Given the description of an element on the screen output the (x, y) to click on. 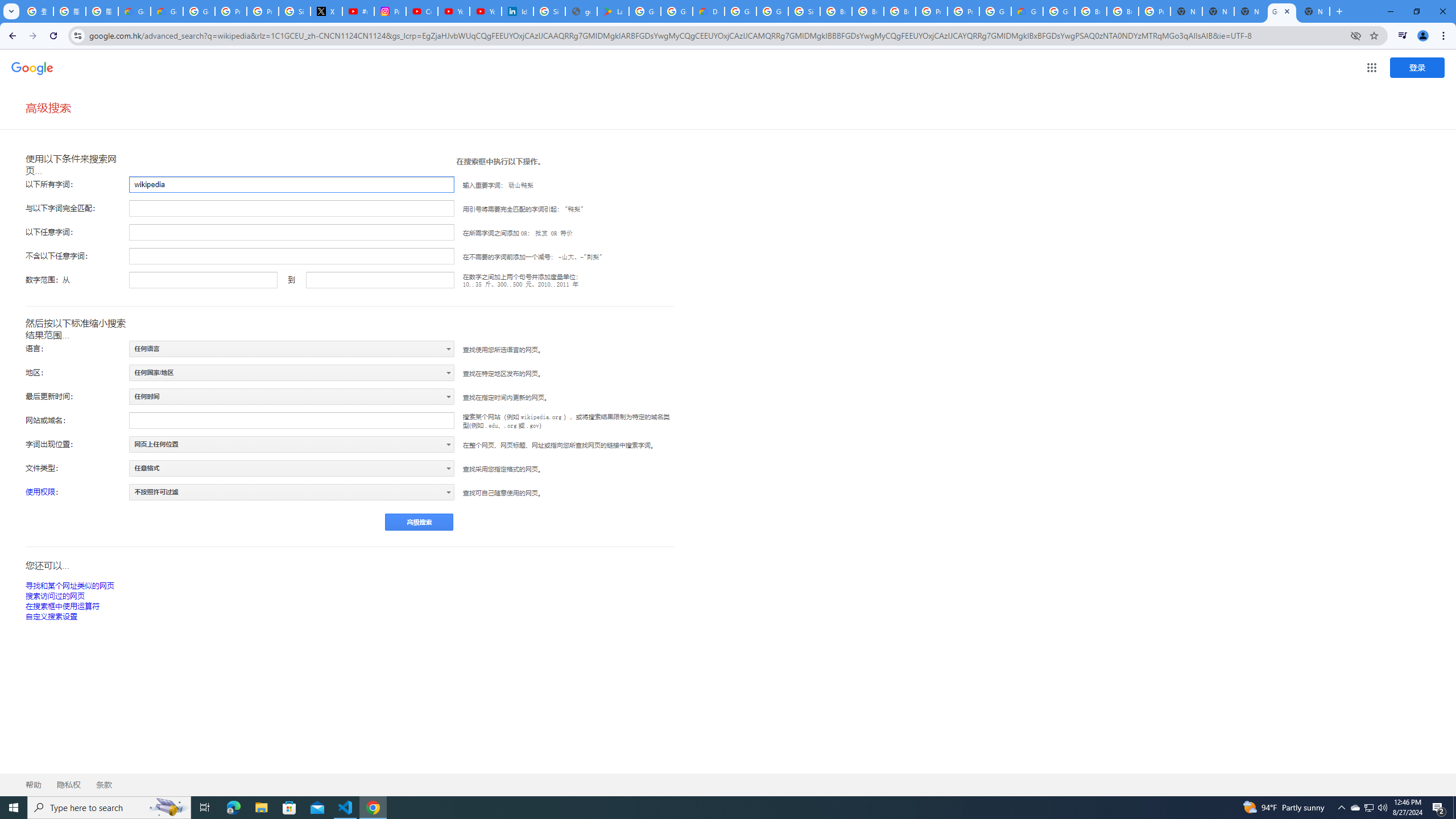
Google Cloud Platform (740, 11)
Google Cloud Privacy Notice (134, 11)
